Given the description of an element on the screen output the (x, y) to click on. 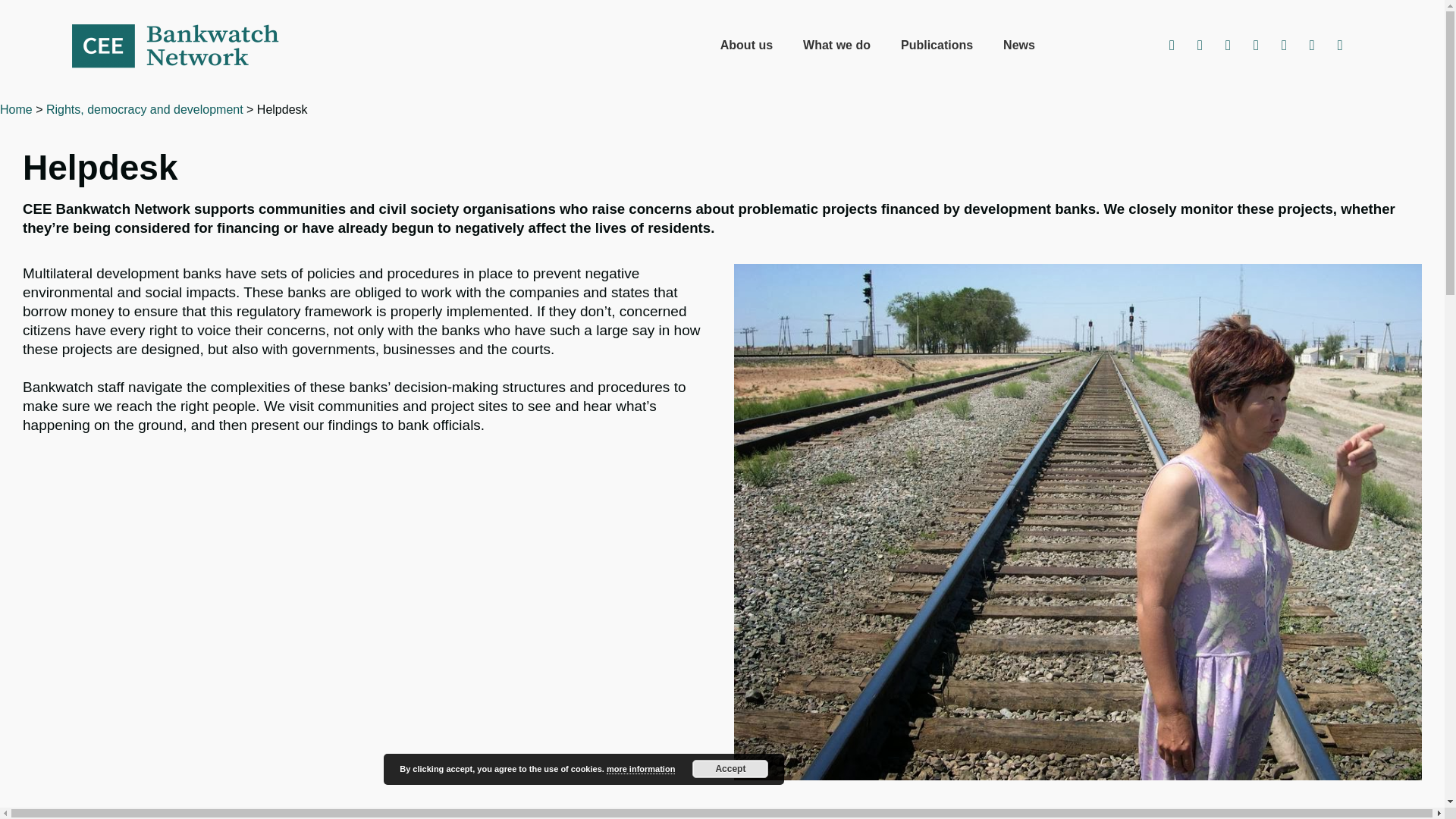
Bankwatch (185, 45)
What we do (836, 45)
News (1018, 45)
Publications (936, 45)
About us (745, 45)
